Given the description of an element on the screen output the (x, y) to click on. 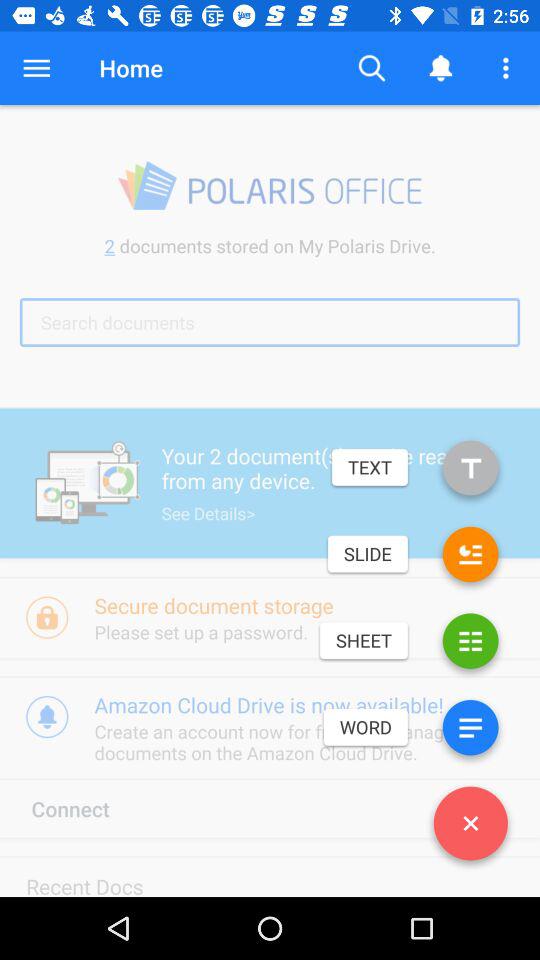
close screen (470, 827)
